Given the description of an element on the screen output the (x, y) to click on. 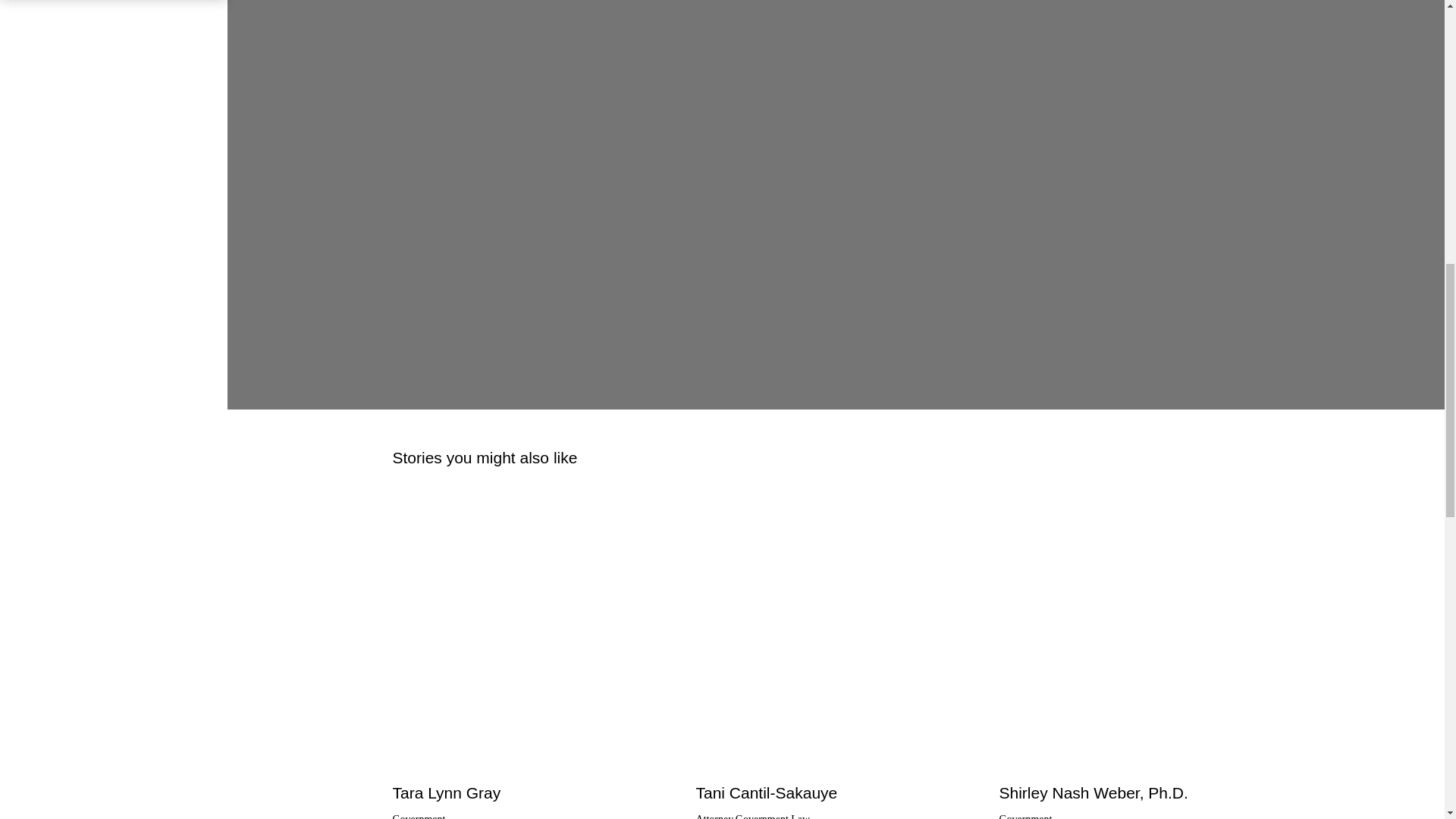
Law (799, 816)
Government (762, 816)
Government (418, 816)
Government (418, 816)
Attorney (713, 816)
Tani Cantil-Sakauye (766, 792)
Tara Lynn Gray (445, 792)
Government (762, 816)
Law (799, 816)
Attorney (713, 816)
